Given the description of an element on the screen output the (x, y) to click on. 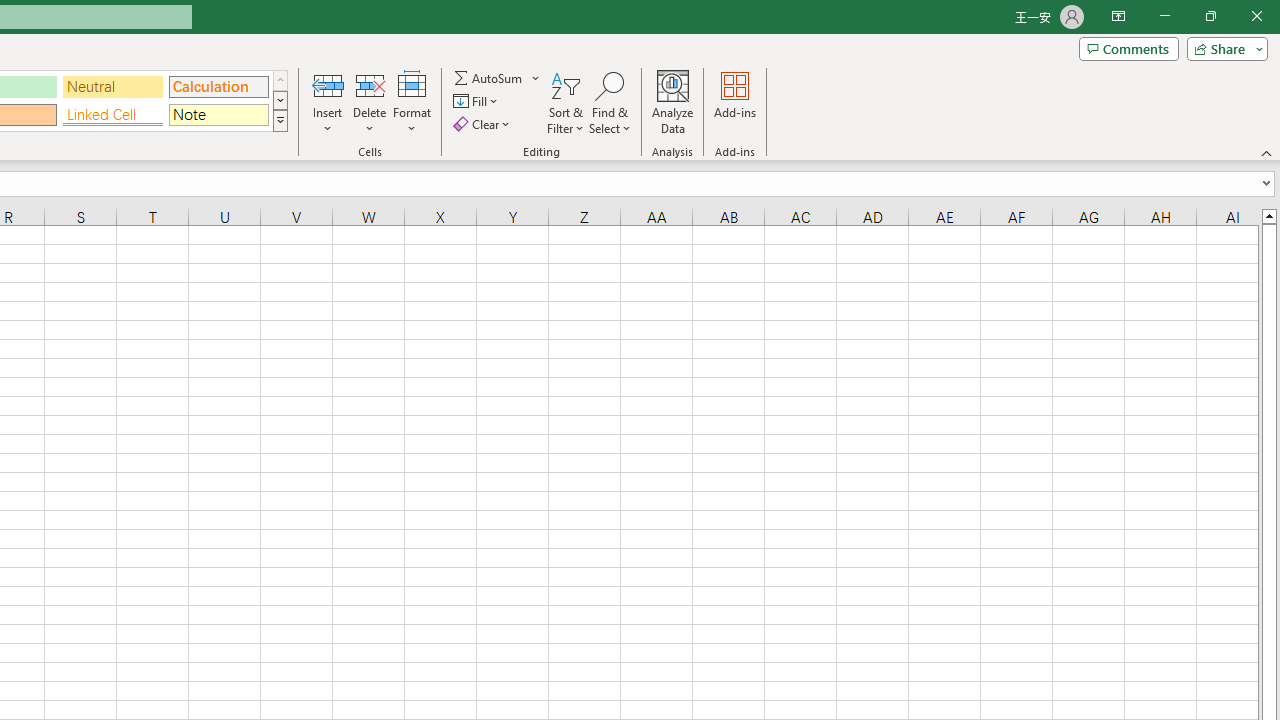
Format (411, 102)
Collapse the Ribbon (1267, 152)
More Options (536, 78)
Sort & Filter (566, 102)
Class: NetUIImage (280, 120)
Clear (483, 124)
Delete (369, 102)
AutoSum (497, 78)
Delete Cells... (369, 84)
Insert (328, 102)
Calculation (218, 86)
Share (1223, 48)
Cell Styles (280, 120)
Analyze Data (673, 102)
